Given the description of an element on the screen output the (x, y) to click on. 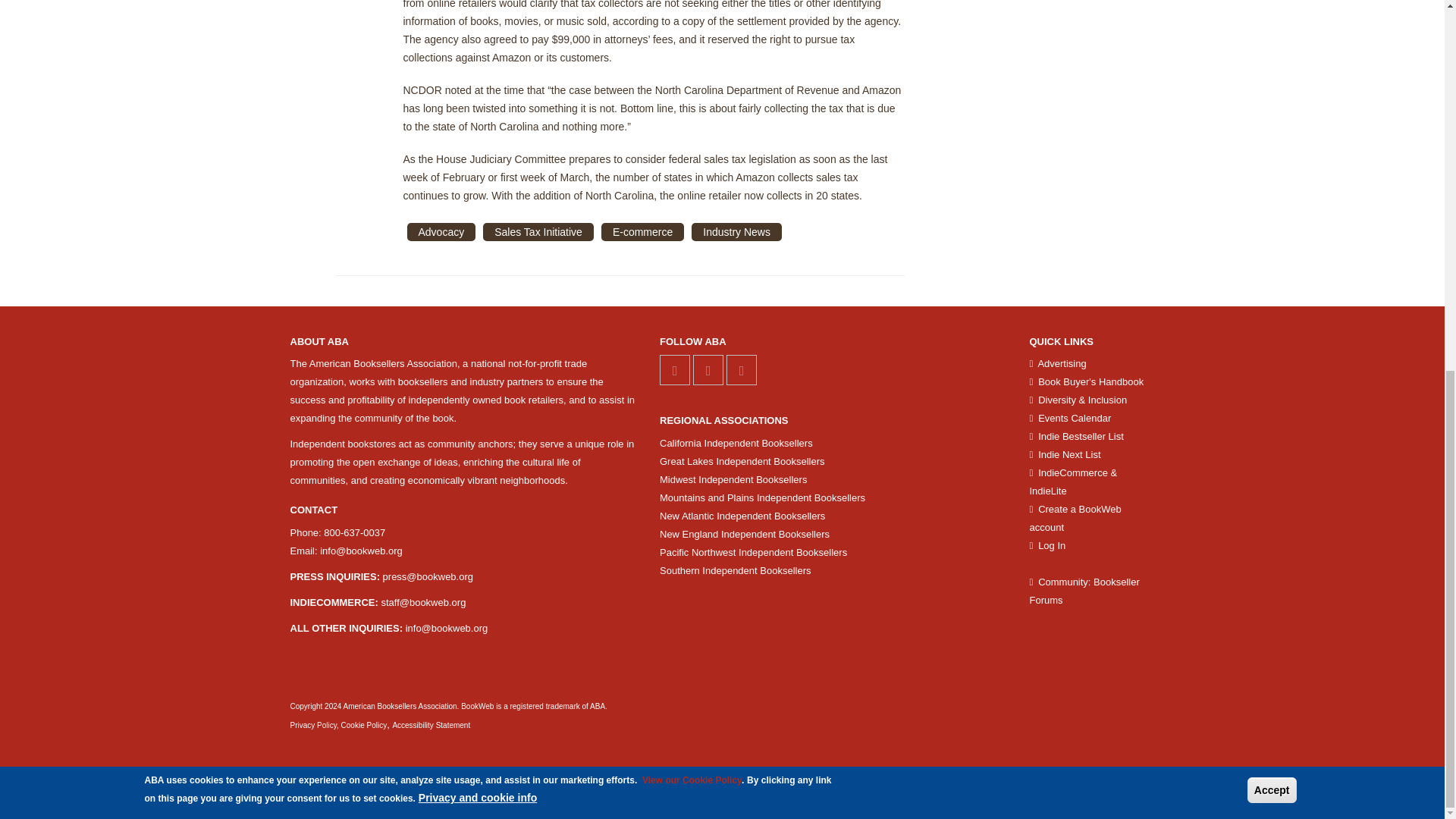
Accept (1272, 115)
View our Cookie Policy (691, 105)
Privacy and cookie info (478, 123)
